Given the description of an element on the screen output the (x, y) to click on. 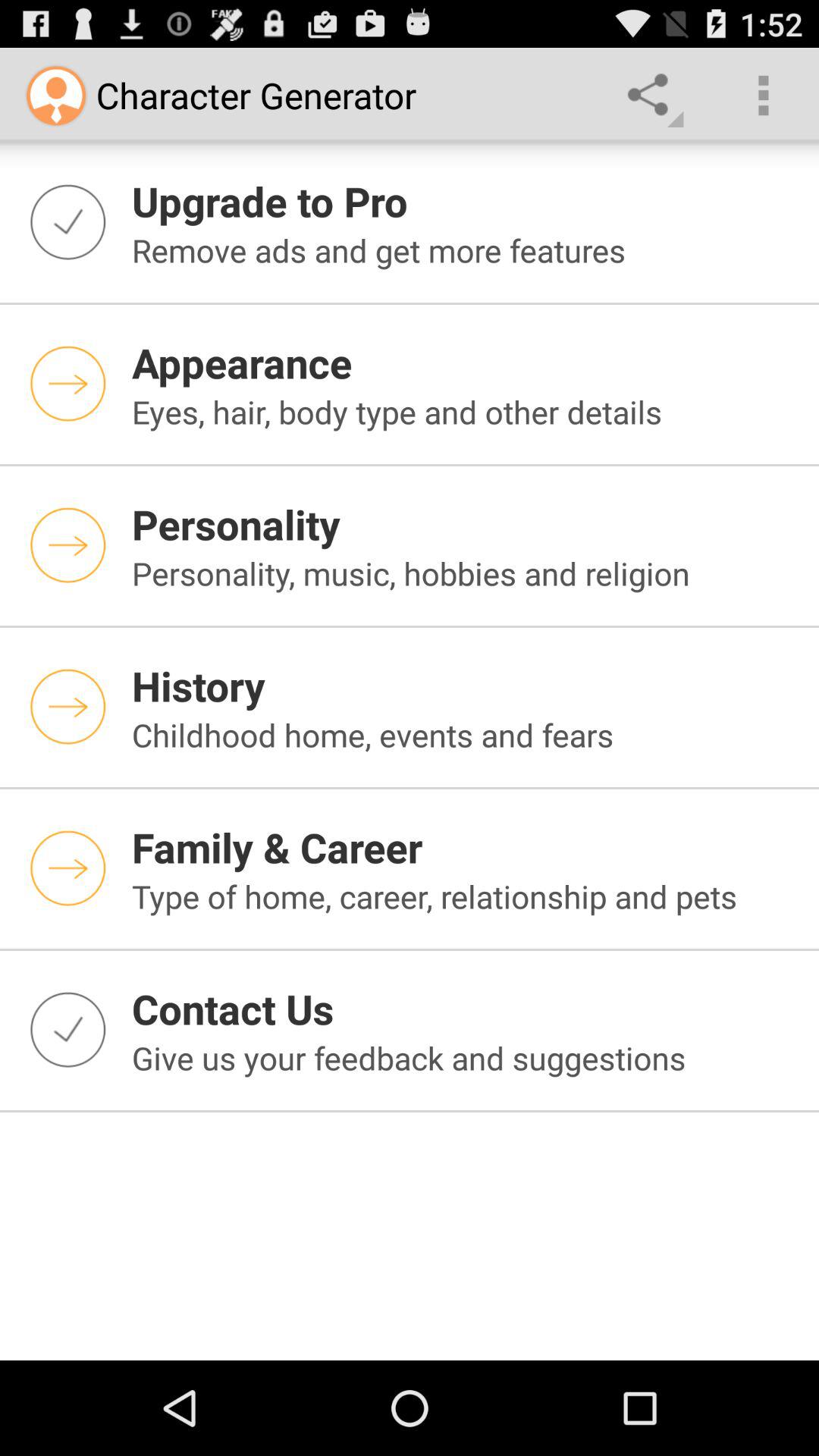
choose give us your app (465, 1057)
